Given the description of an element on the screen output the (x, y) to click on. 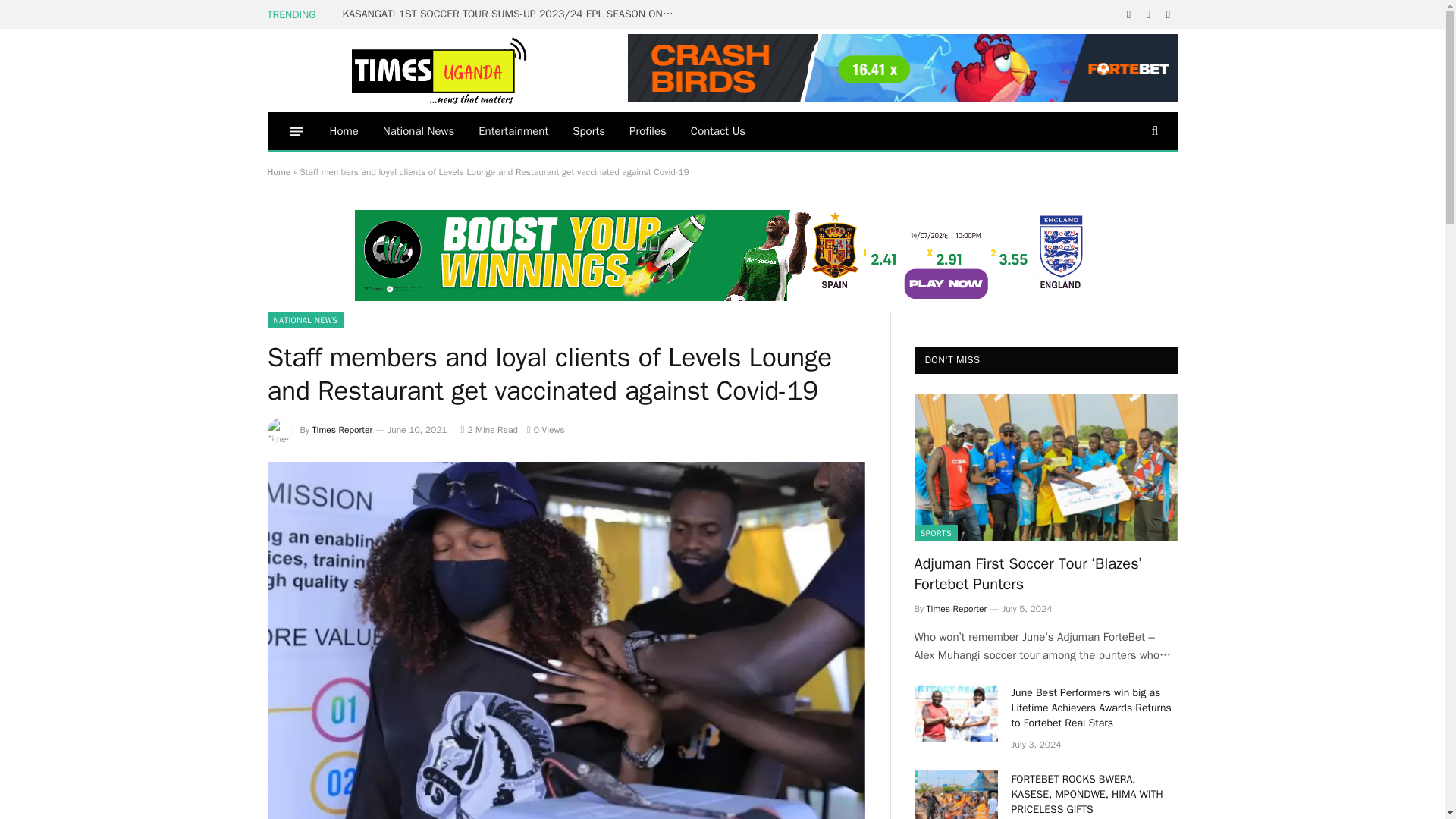
Times Uganda (441, 70)
Sports (588, 130)
Contact Us (717, 130)
0 Article Views (545, 429)
National News (418, 130)
Home (343, 130)
Posts by Times Reporter (342, 429)
Home (277, 172)
Entertainment (512, 130)
Profiles (647, 130)
